Given the description of an element on the screen output the (x, y) to click on. 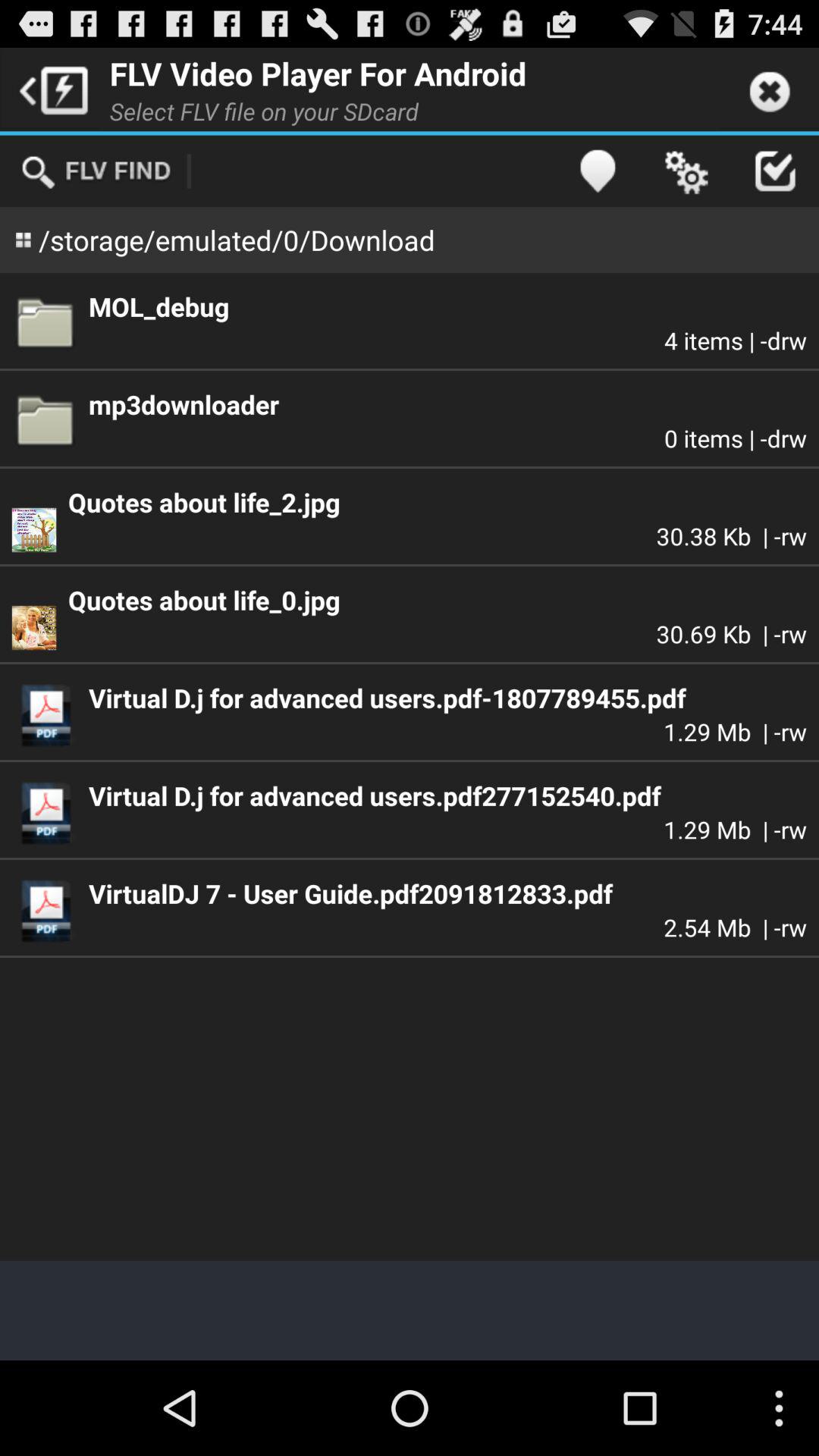
click item to the right of storage emulated 0 (596, 171)
